Given the description of an element on the screen output the (x, y) to click on. 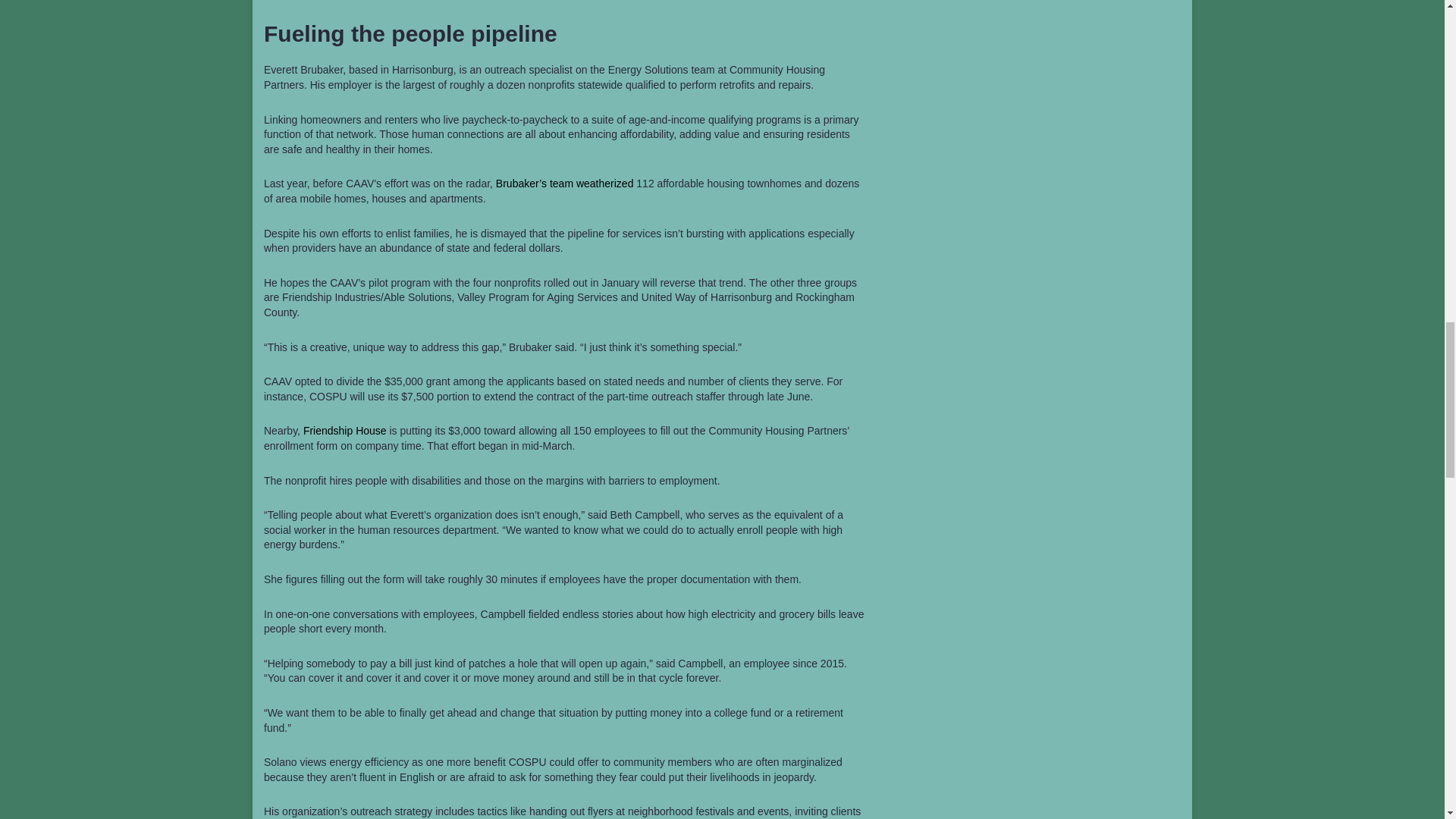
Friendship House (344, 430)
